Given the description of an element on the screen output the (x, y) to click on. 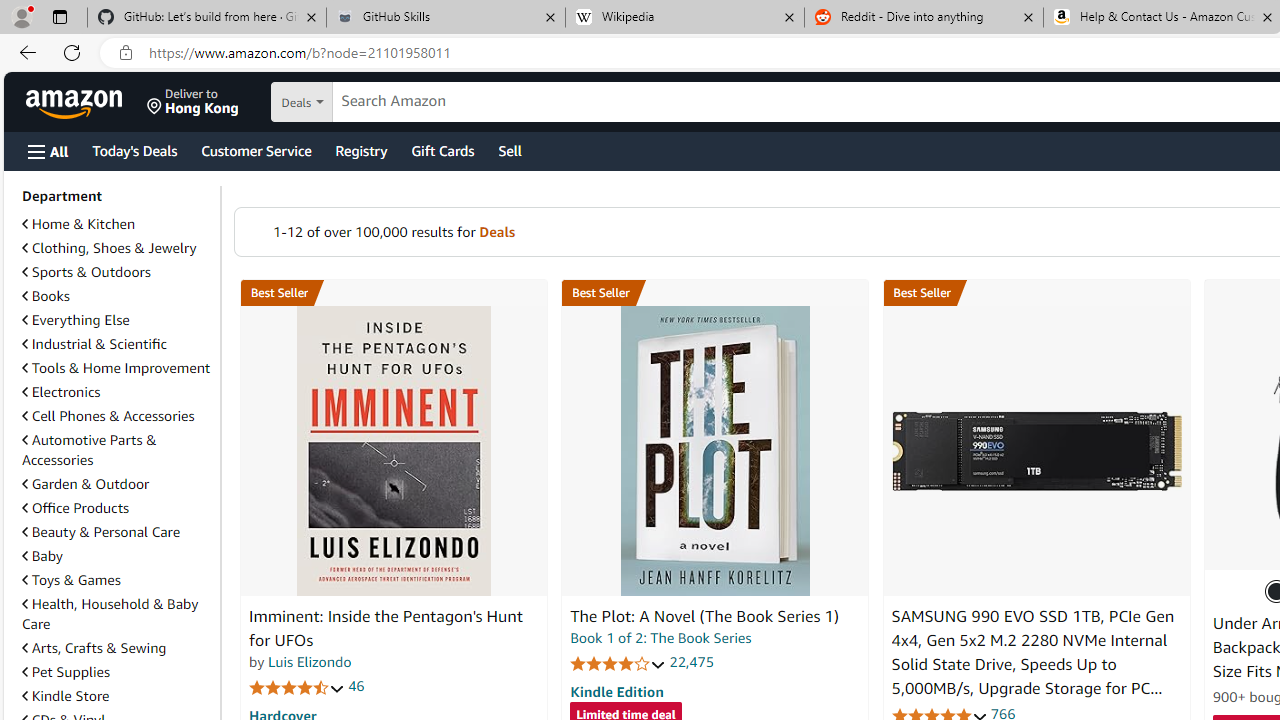
Best Seller in Internal Solid State Drives (1036, 293)
Electronics (117, 391)
Beauty & Personal Care (100, 531)
Best Seller in Unexplained Mysteries (393, 293)
Customer Service (256, 150)
Kindle Store (117, 696)
Cell Phones & Accessories (107, 415)
Imminent: Inside the Pentagon's Hunt for UFOs (386, 628)
Industrial & Scientific (94, 343)
Tools & Home Improvement (116, 368)
Automotive Parts & Accessories (117, 449)
46 (356, 686)
Health, Household & Baby Care (109, 613)
Toys & Games (117, 579)
